Given the description of an element on the screen output the (x, y) to click on. 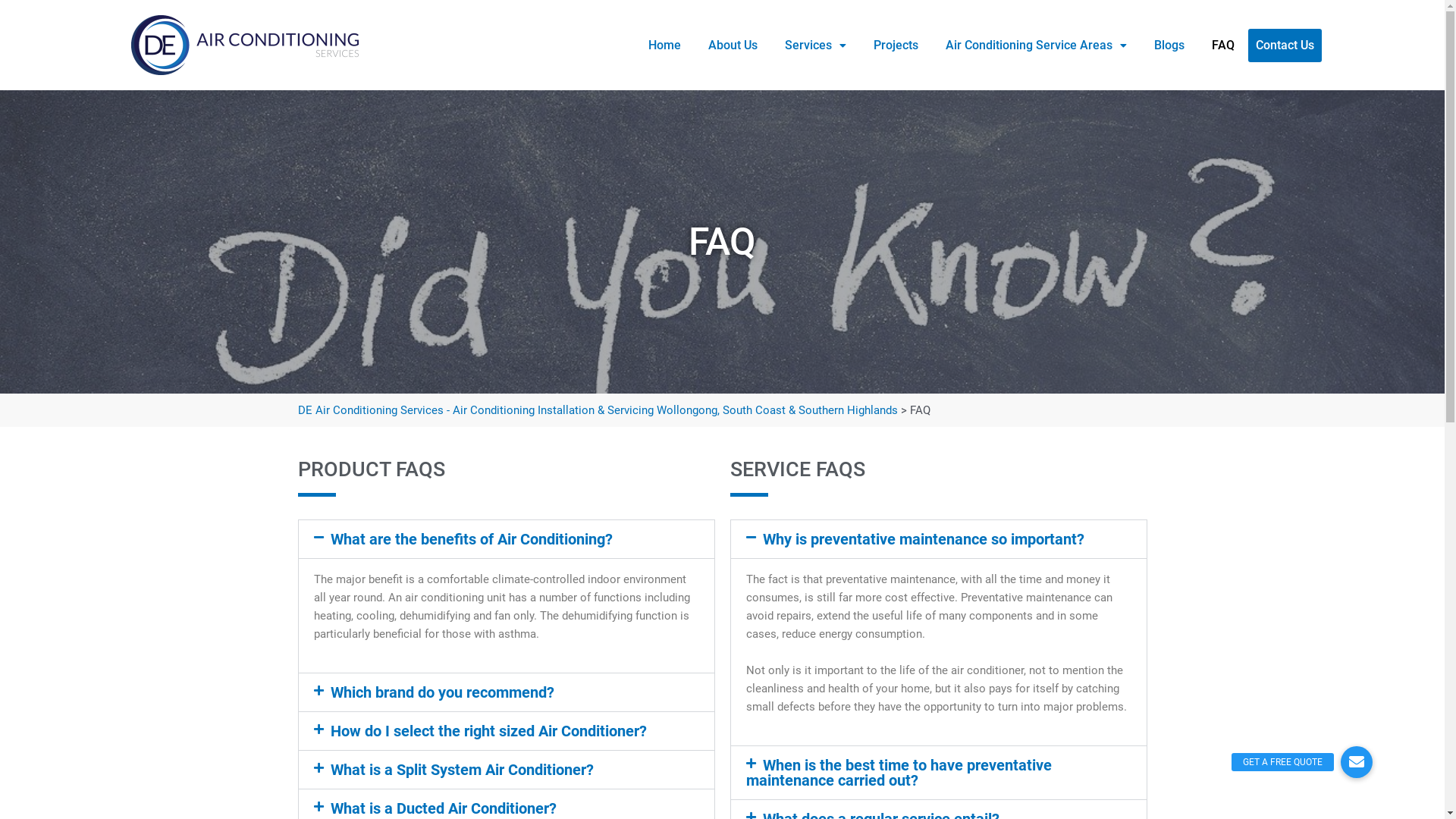
What is a Ducted Air Conditioner? Element type: text (443, 808)
Which brand do you recommend? Element type: text (442, 692)
Contact Us Element type: text (1284, 45)
GET A FREE QUOTE Element type: text (1356, 762)
How do I select the right sized Air Conditioner? Element type: text (488, 730)
Blogs Element type: text (1169, 44)
About Us Element type: text (732, 44)
Projects Element type: text (895, 44)
What are the benefits of Air Conditioning? Element type: text (471, 539)
Home Element type: text (663, 44)
What is a Split System Air Conditioner? Element type: text (461, 769)
Air Conditioning Service Areas Element type: text (1035, 44)
Why is preventative maintenance so important? Element type: text (923, 539)
FAQ Element type: text (1223, 44)
Services Element type: text (814, 44)
